Given the description of an element on the screen output the (x, y) to click on. 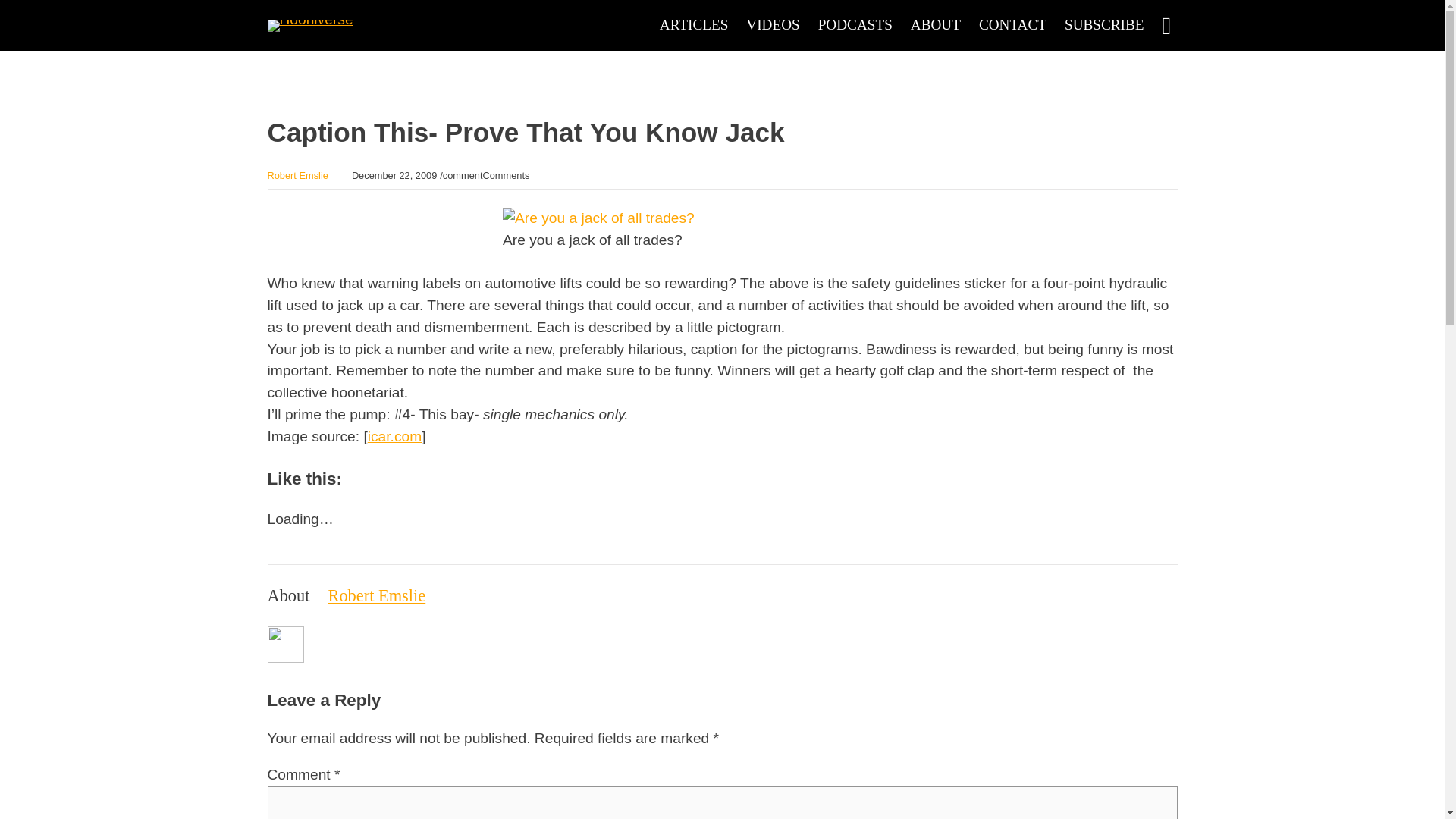
CONTACT (1012, 25)
ABOUT (935, 25)
Robert Emslie (376, 595)
icar.com (395, 436)
VIDEOS (772, 25)
ARTICLES (694, 25)
Robert Emslie (296, 174)
PODCASTS (855, 25)
SUBSCRIBE (1104, 25)
